Given the description of an element on the screen output the (x, y) to click on. 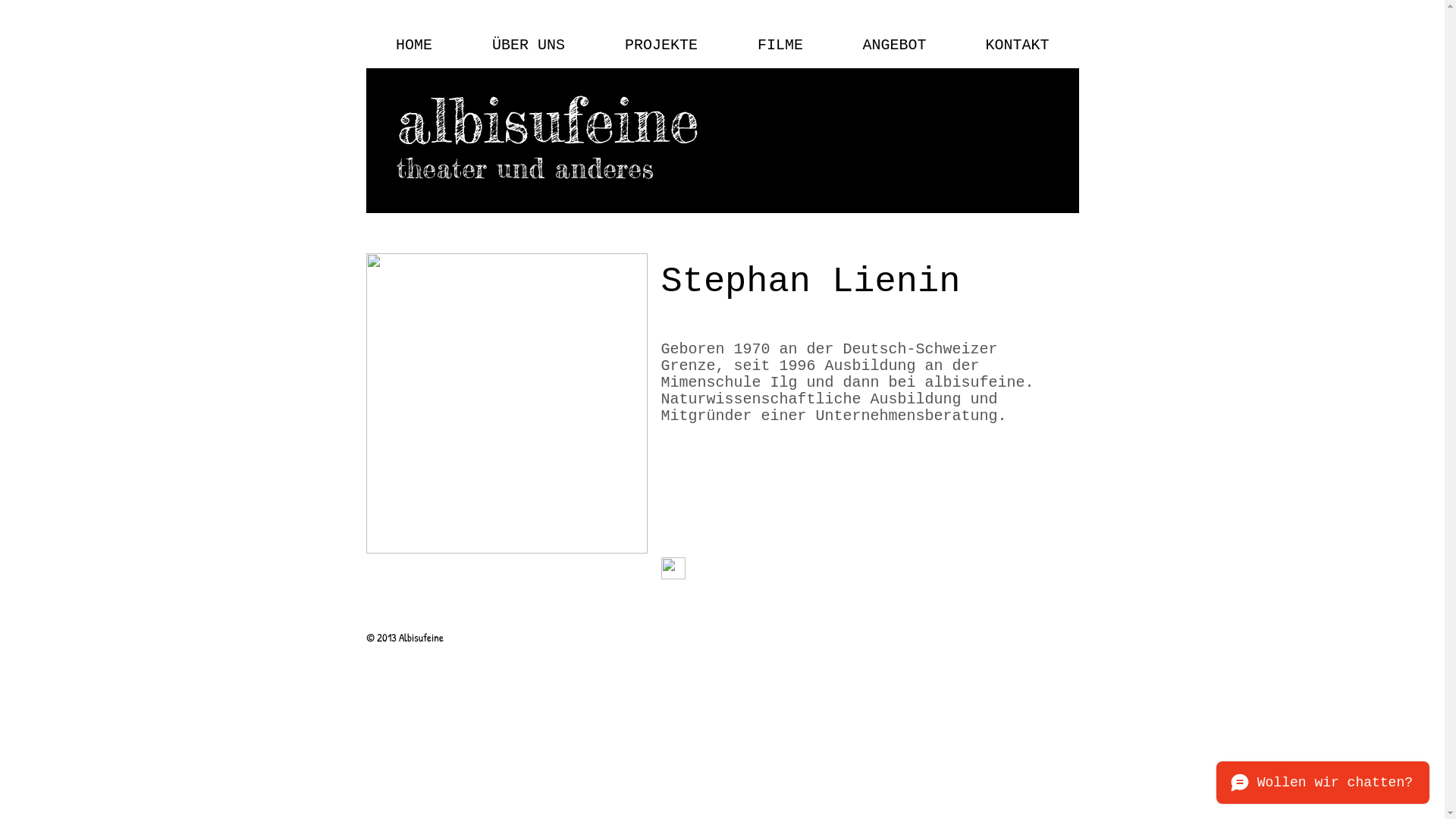
HOME Element type: text (413, 45)
IMG_0049.jpg Element type: hover (505, 403)
ANGEBOT Element type: text (893, 45)
PROJEKTE Element type: text (660, 45)
KONTAKT Element type: text (1016, 45)
FILME Element type: text (780, 45)
